Given the description of an element on the screen output the (x, y) to click on. 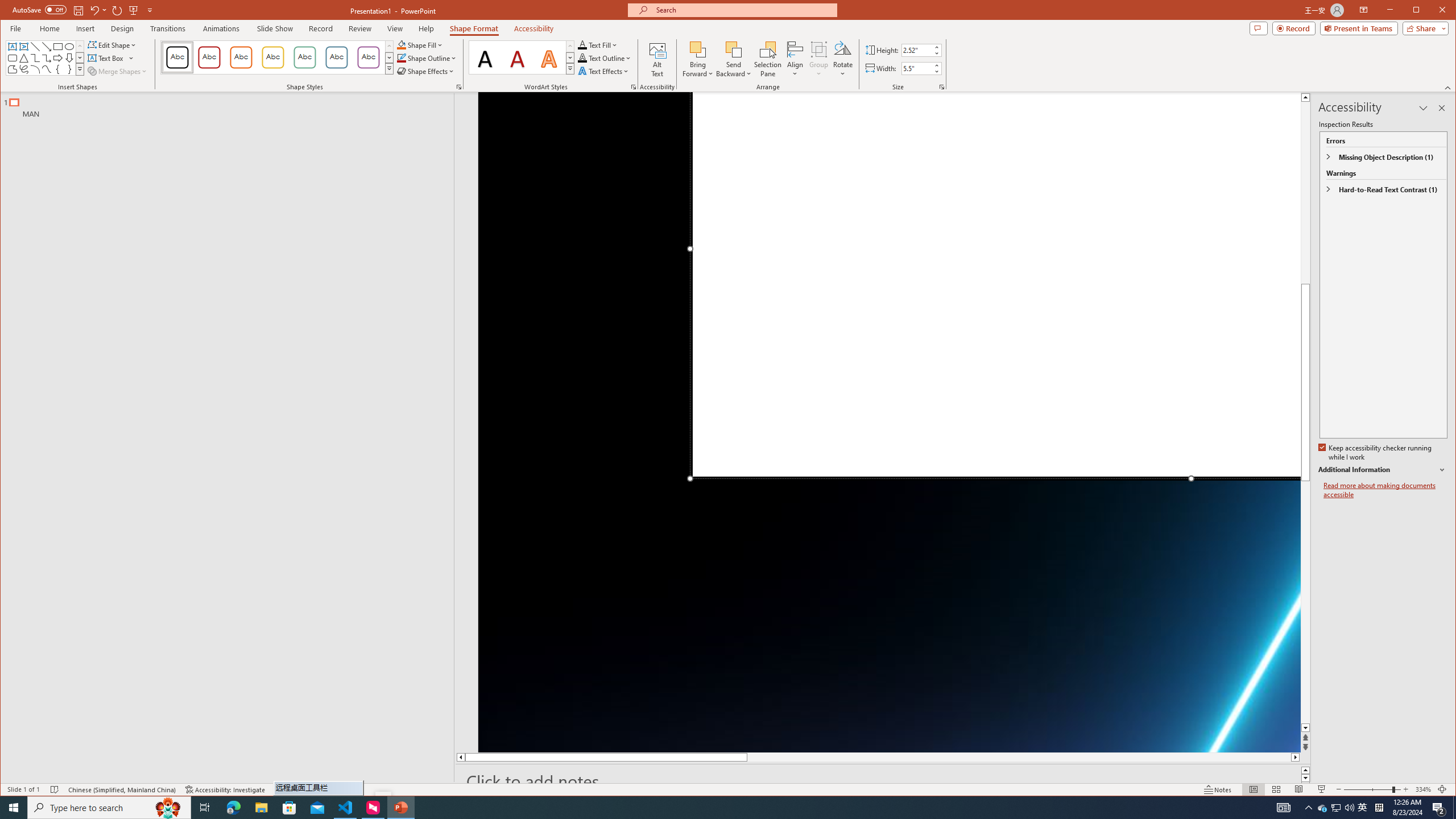
Colored Outline - Purple, Accent 6 (368, 57)
Running applications (700, 807)
Size and Position... (941, 86)
Outline (231, 104)
Colored Outline - Green, Accent 4 (304, 57)
